Given the description of an element on the screen output the (x, y) to click on. 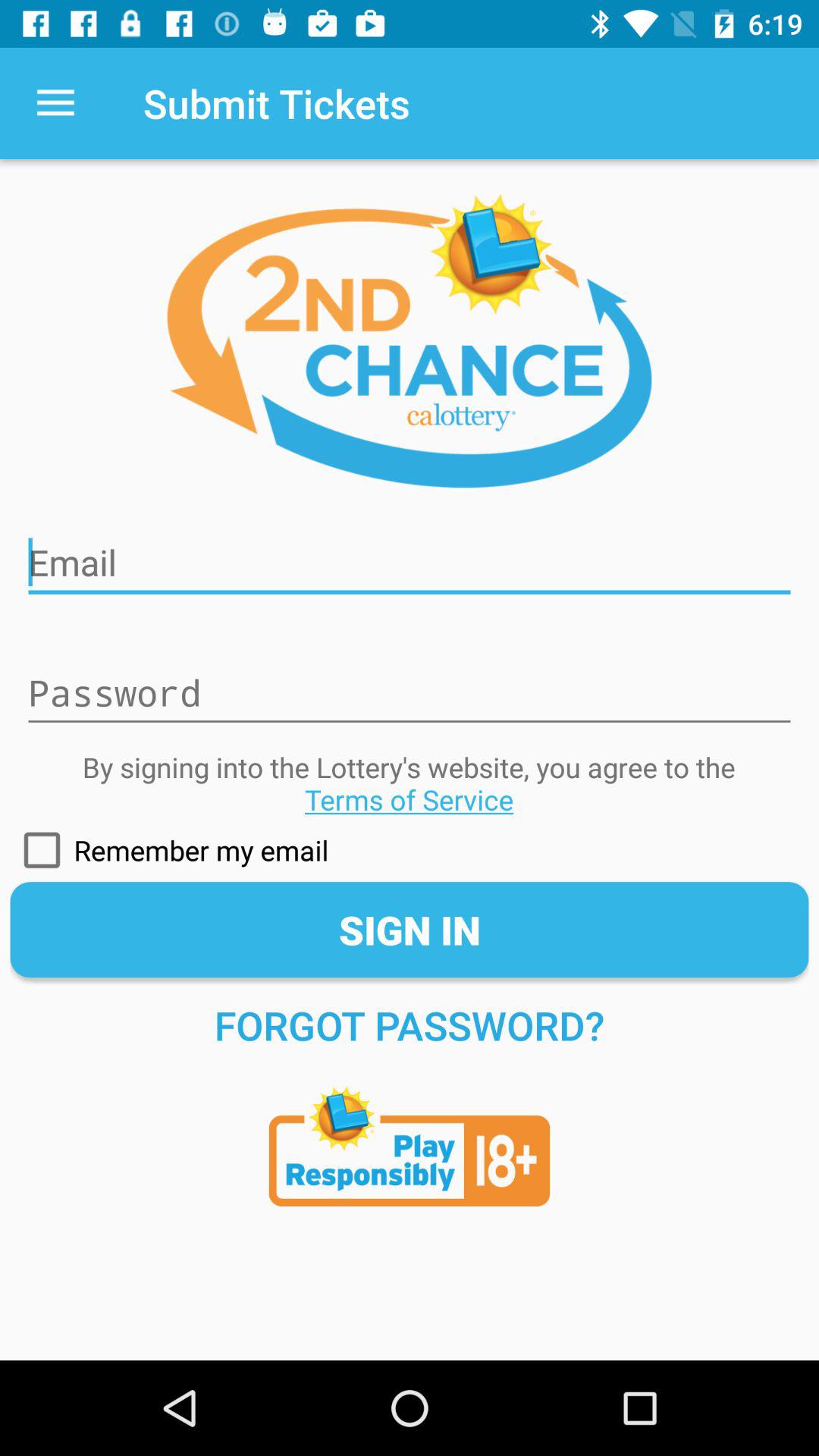
enter email (409, 552)
